Given the description of an element on the screen output the (x, y) to click on. 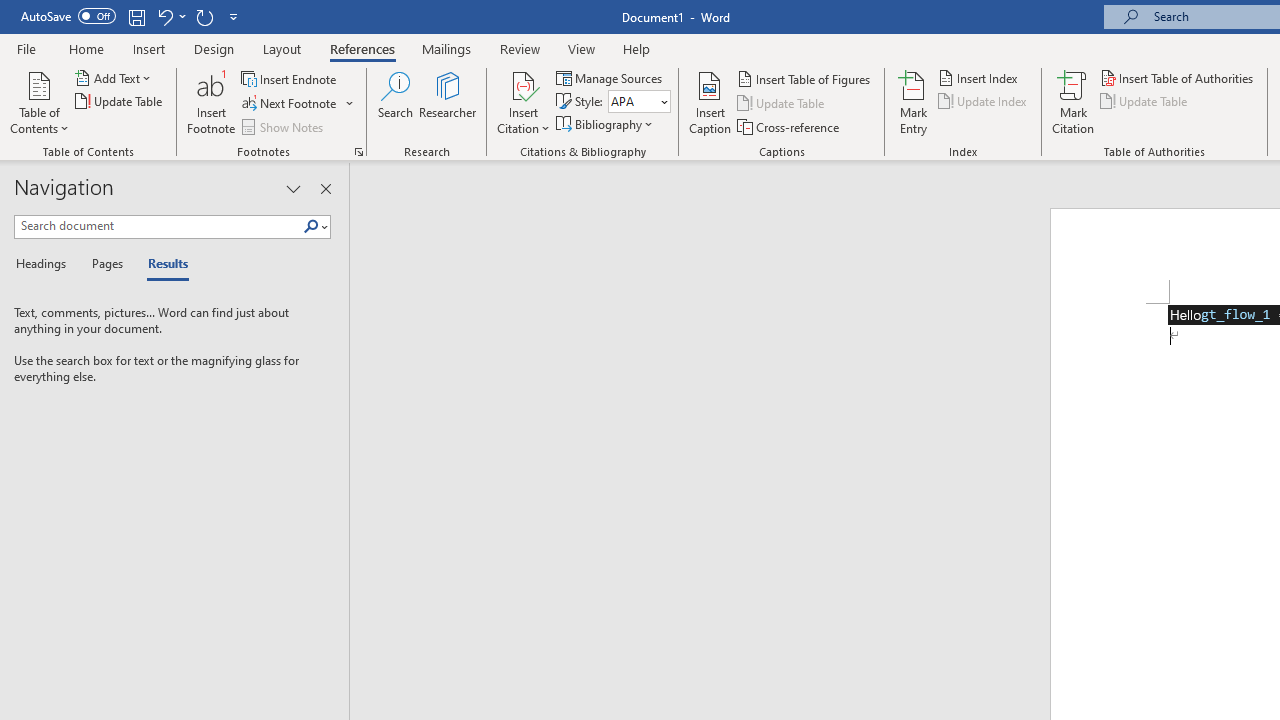
AutoSave (68, 16)
Footnote and Endnote Dialog... (358, 151)
Next Footnote (290, 103)
Quick Access Toolbar (131, 16)
Insert Citation (523, 102)
Mark Citation... (1072, 102)
Insert (149, 48)
Manage Sources... (610, 78)
Repeat Underline Style (204, 15)
Design (214, 48)
Table of Contents (39, 102)
Open (662, 101)
Customize Quick Access Toolbar (234, 15)
Home (86, 48)
